Given the description of an element on the screen output the (x, y) to click on. 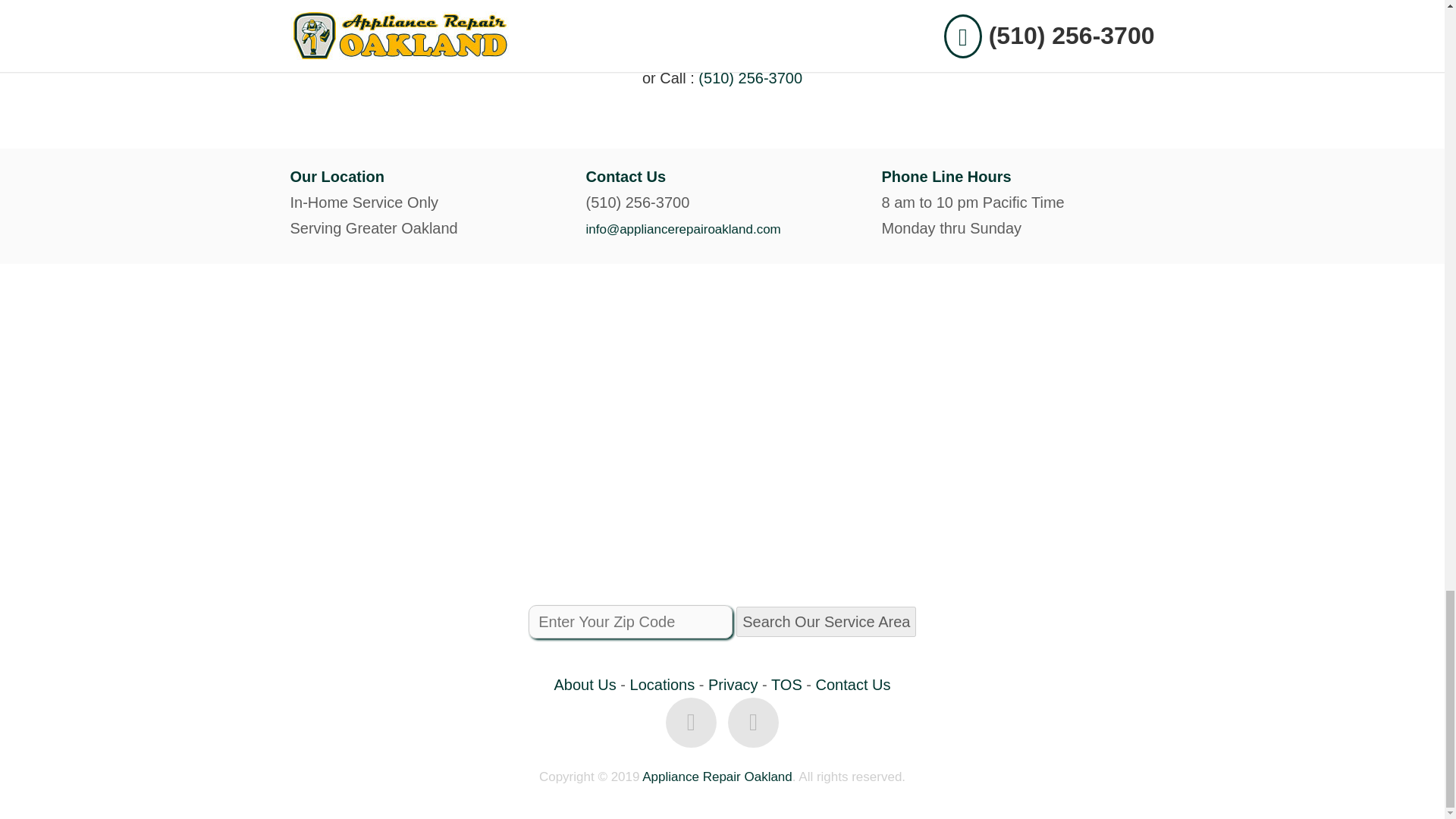
SEARCH BY CITY OR ZIP CODE (721, 27)
Privacy (732, 684)
Contact Us (853, 684)
Locations (662, 684)
Search Our Service Area (825, 621)
Appliance Repair Oakland (717, 776)
About Us (584, 684)
Search Our Service Area (825, 621)
TOS (786, 684)
